Given the description of an element on the screen output the (x, y) to click on. 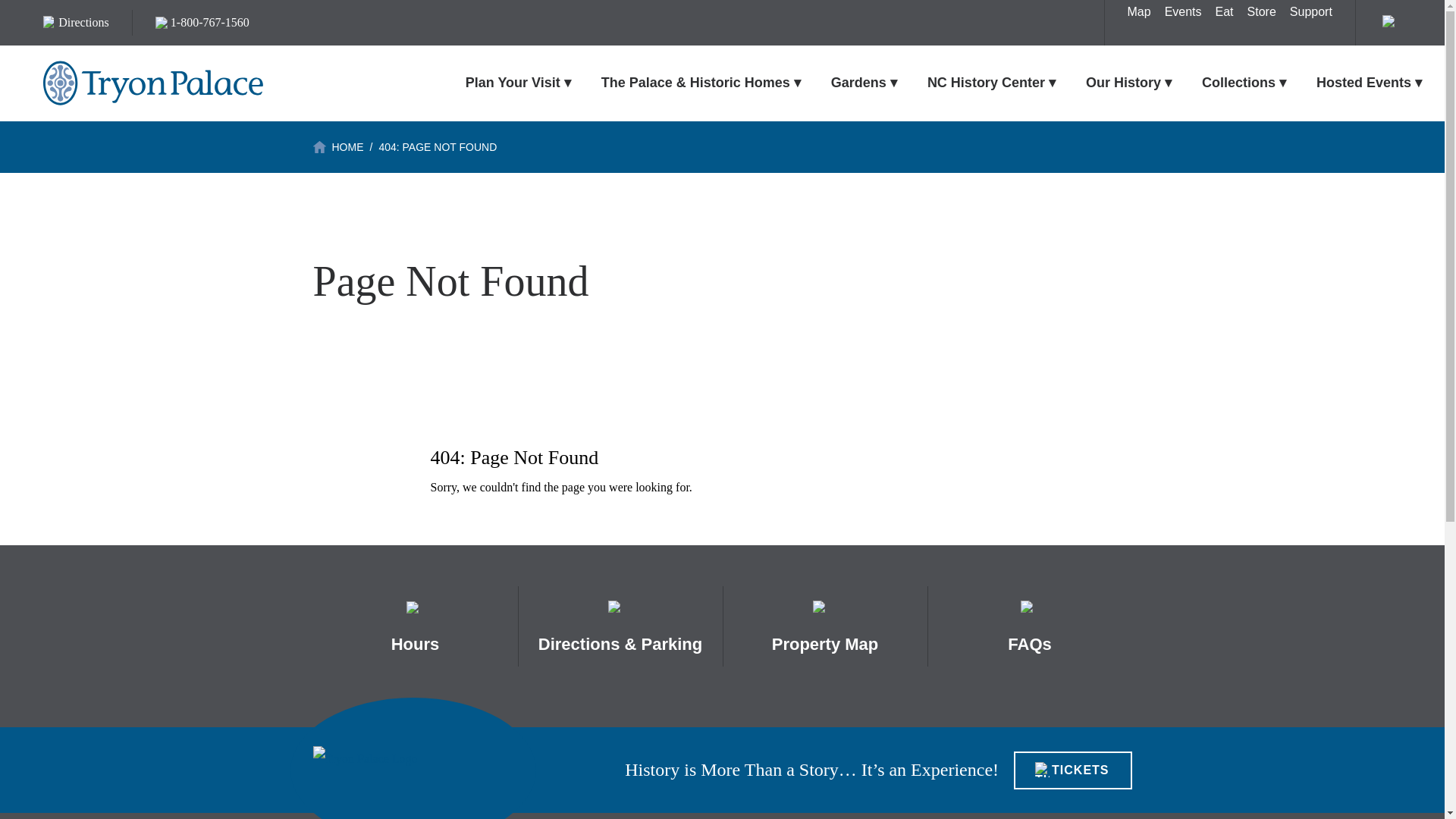
homepage (412, 769)
homepage (153, 82)
Plan Your Visit (517, 82)
